Given the description of an element on the screen output the (x, y) to click on. 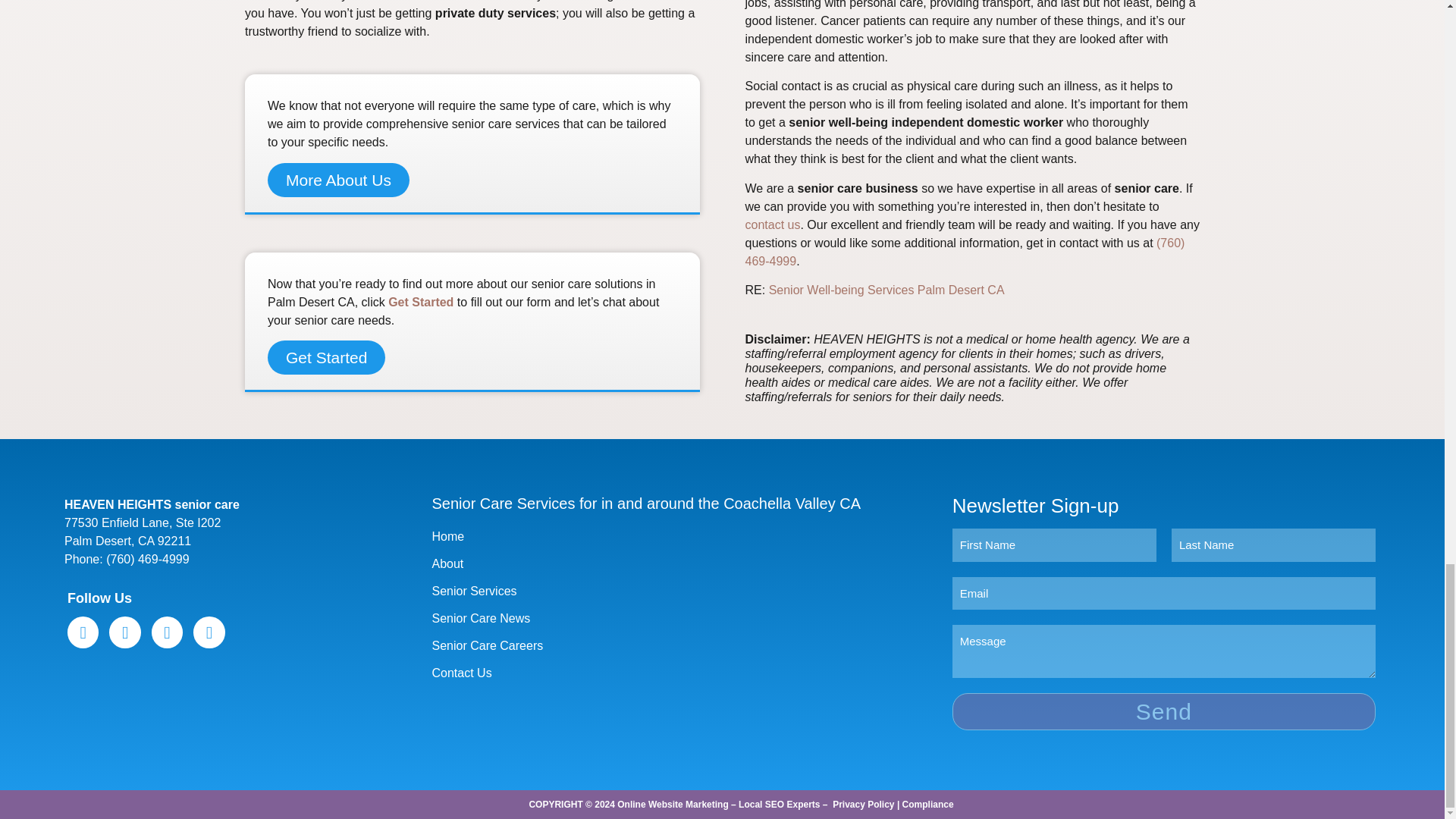
Get Started (326, 357)
More About Us (338, 179)
Home Health Care Services Carlsbad CA (886, 289)
Senior Well-being Services Palm Desert CA (886, 289)
Privacy Policy (862, 804)
Online Website Marketing - Local SEO Experts (718, 804)
contact us (771, 224)
Get Started (420, 301)
Compliance (927, 804)
